Given the description of an element on the screen output the (x, y) to click on. 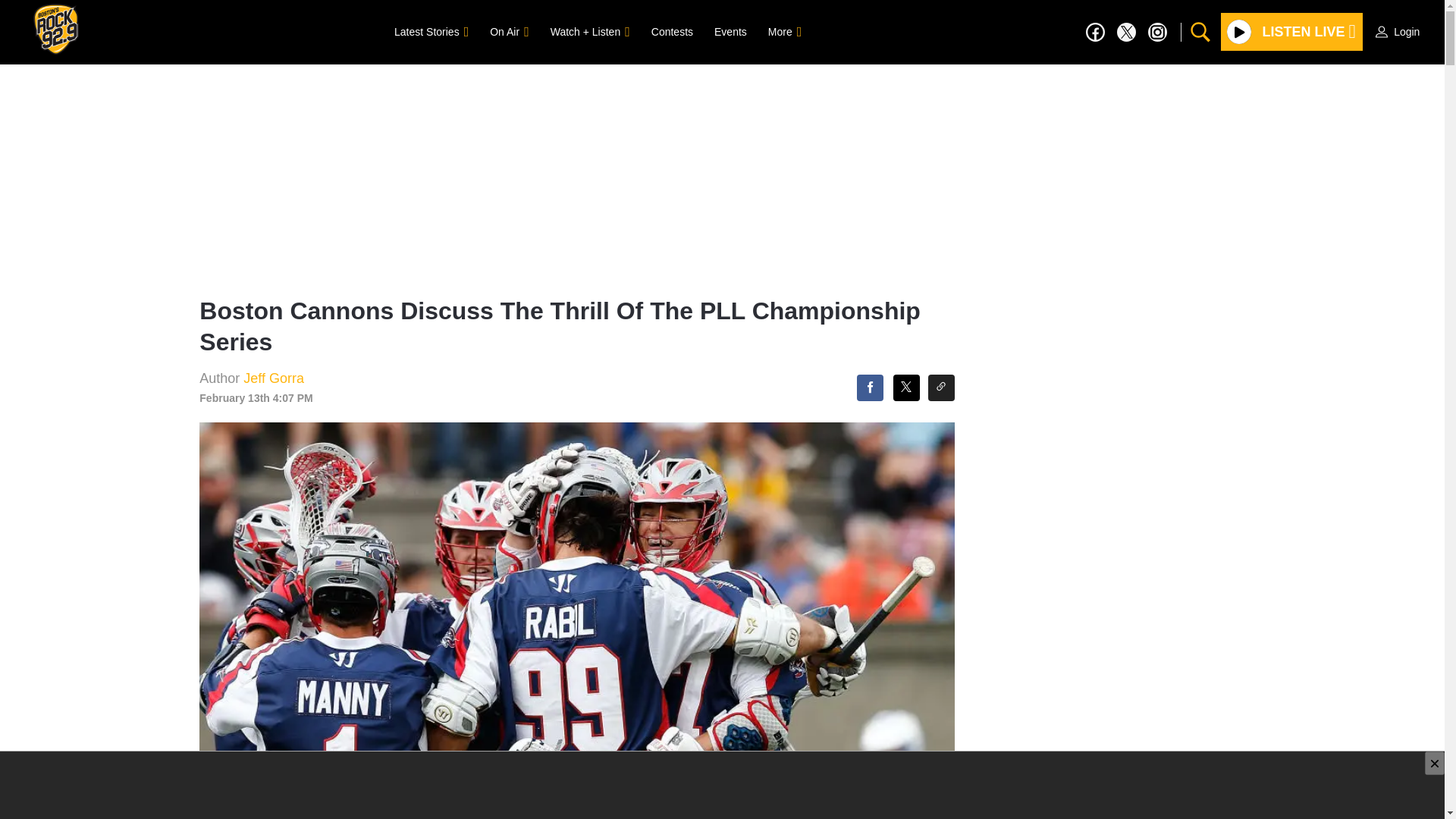
More (784, 31)
On Air (508, 31)
Jeff Gorra (273, 378)
Contests (671, 31)
Events (730, 31)
Latest Stories (431, 31)
